Given the description of an element on the screen output the (x, y) to click on. 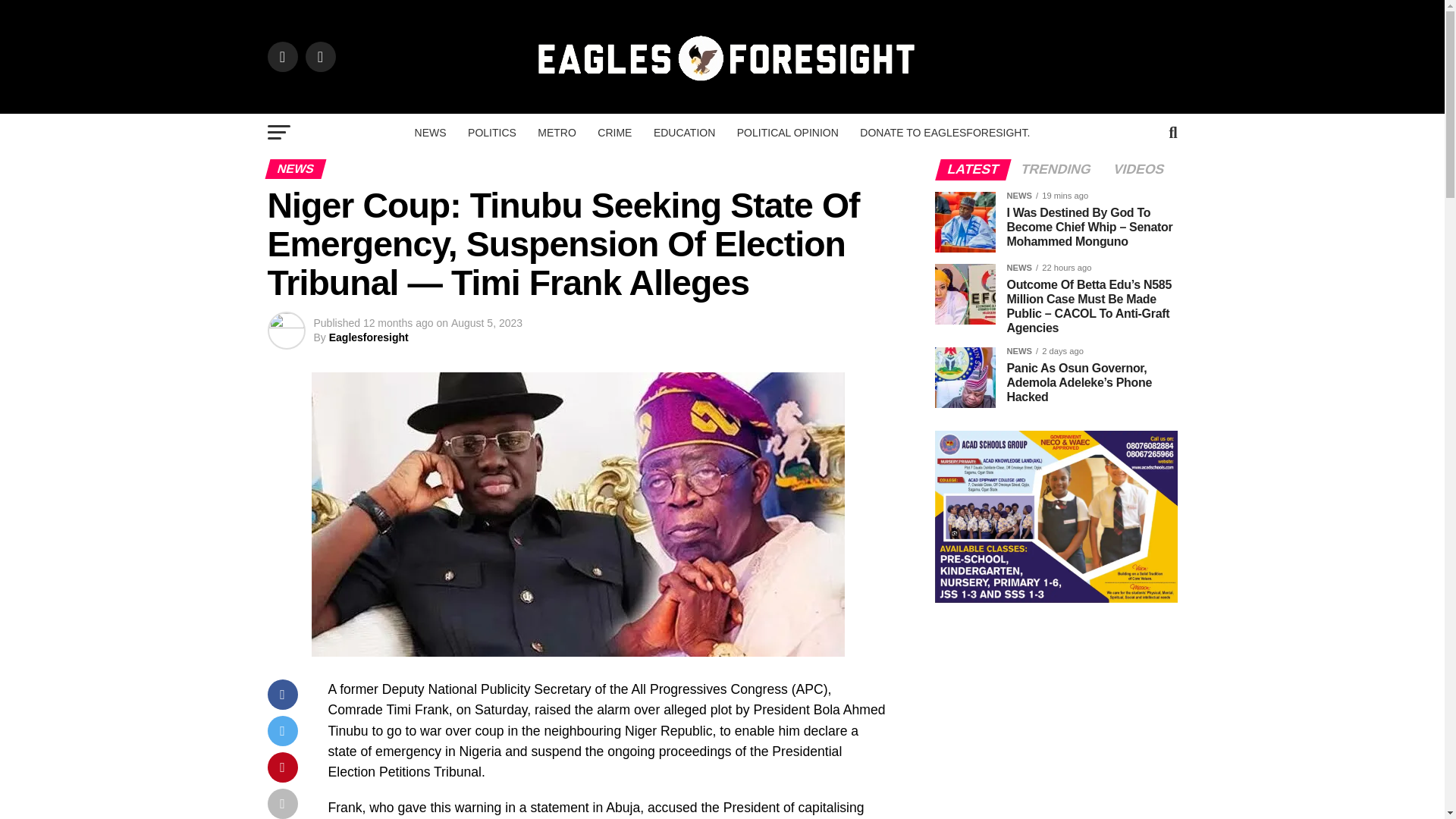
CRIME (614, 132)
NEWS (430, 132)
Posts by Eaglesforesight (369, 337)
METRO (556, 132)
EDUCATION (684, 132)
POLITICS (491, 132)
